Given the description of an element on the screen output the (x, y) to click on. 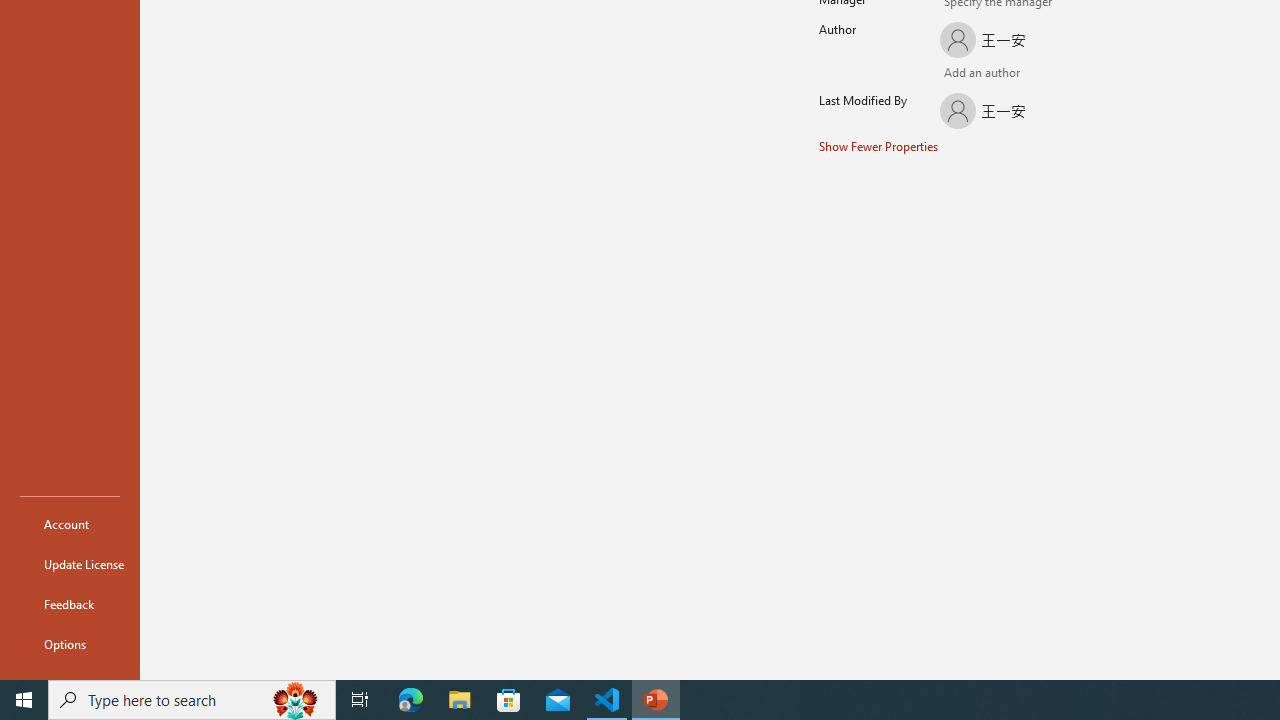
Show Fewer Properties (879, 146)
Verify Names (983, 74)
Account (69, 523)
Add an author (955, 74)
Browse Address Book (1047, 75)
Options (69, 643)
Update License (69, 563)
Feedback (69, 603)
